Given the description of an element on the screen output the (x, y) to click on. 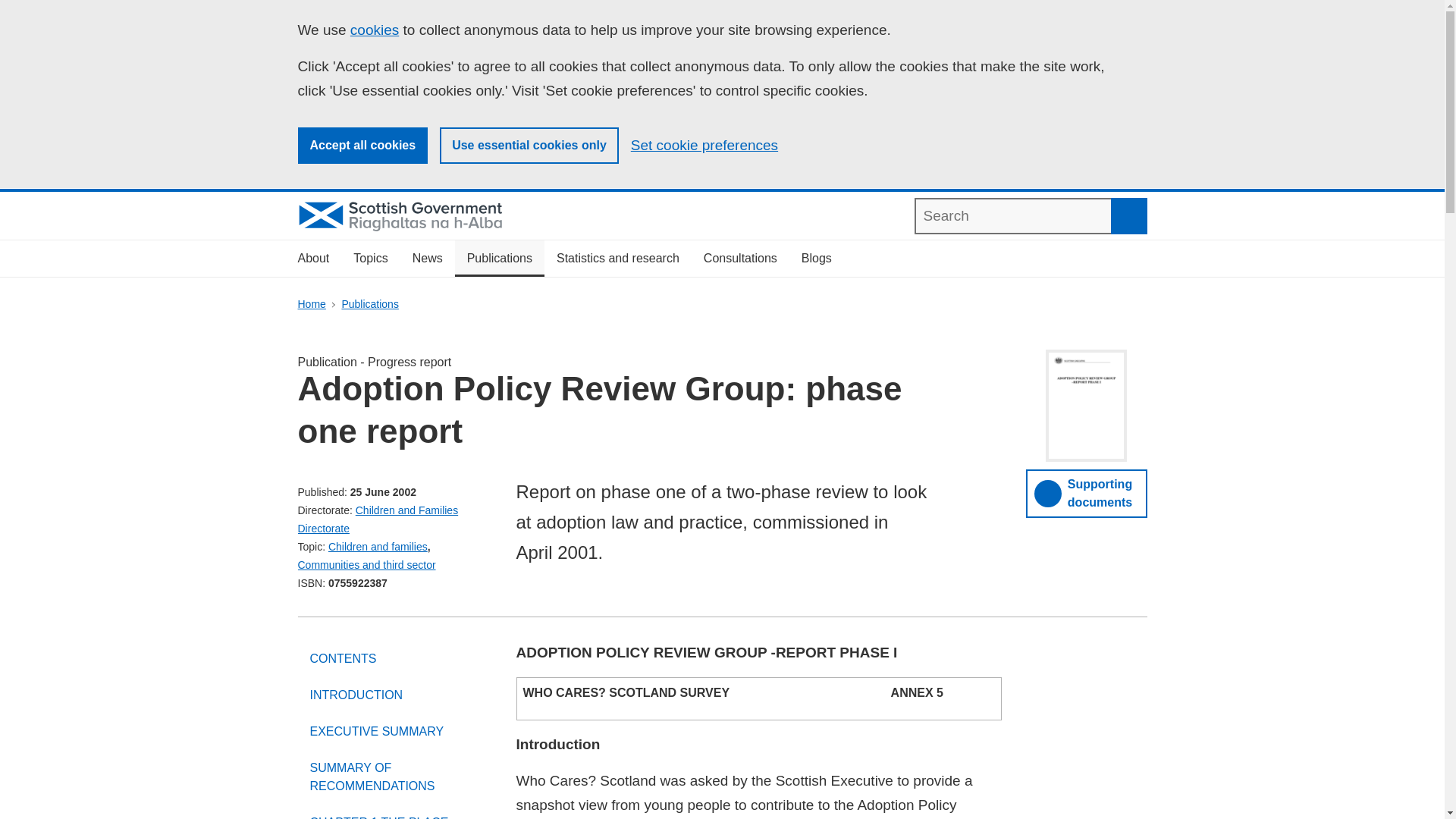
SUMMARY OF RECOMMENDATIONS (394, 776)
INTRODUCTION (394, 694)
Home (310, 304)
EXECUTIVE SUMMARY (394, 730)
Blogs (816, 258)
cookies (374, 29)
Supporting documents (1086, 493)
Set cookie preferences (703, 145)
Use essential cookies only (528, 145)
Children and families (378, 546)
Consultations (740, 258)
CONTENTS (394, 657)
Children and Families Directorate (377, 519)
Communities and third sector (366, 564)
News (427, 258)
